Given the description of an element on the screen output the (x, y) to click on. 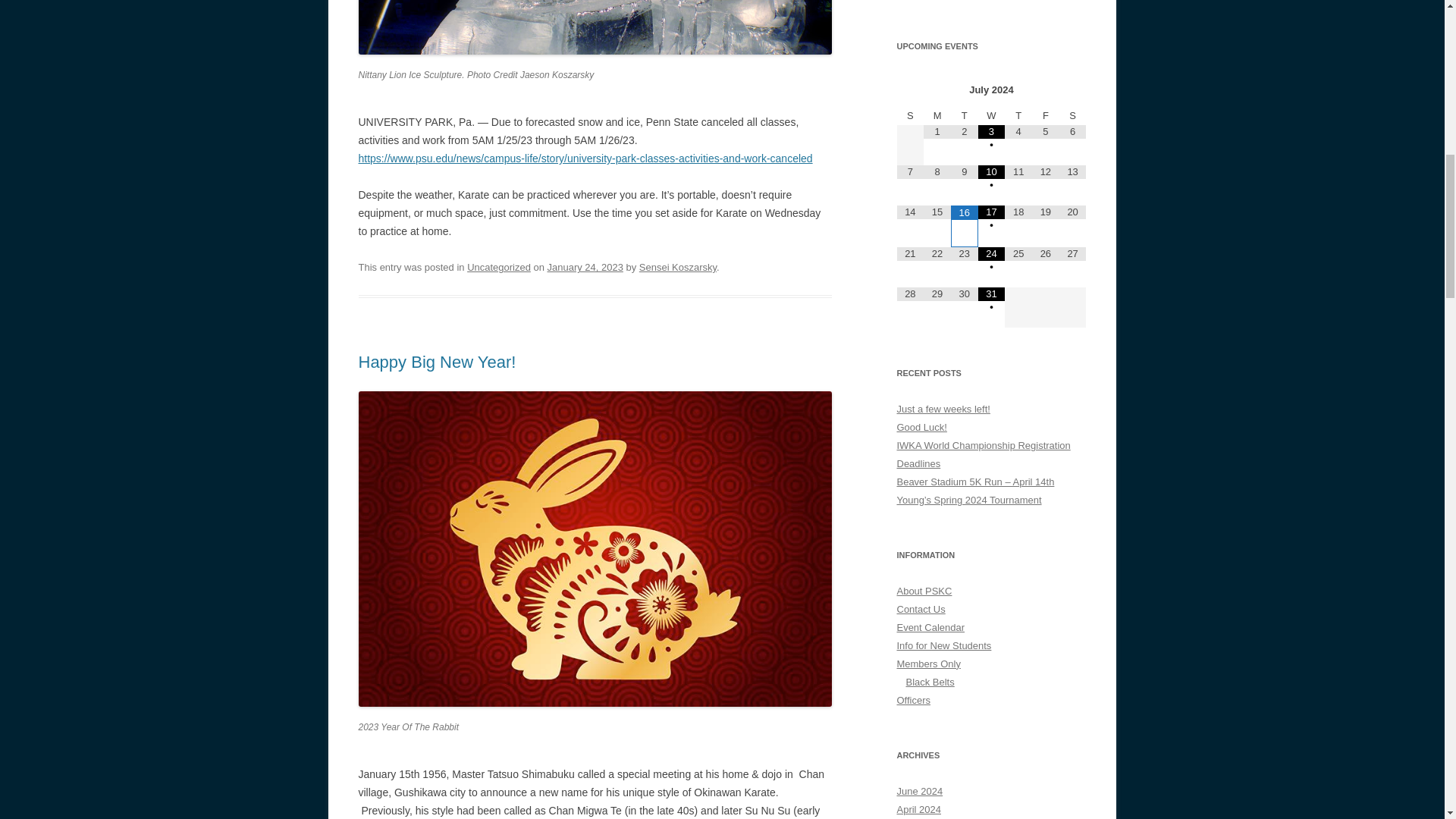
January 24, 2023 (585, 266)
View all posts by Sensei Koszarsky (677, 266)
Next Month (1072, 90)
Sensei Koszarsky (677, 266)
Uncategorized (499, 266)
10:50 pm (585, 266)
Happy Big New Year! (436, 361)
Previous Month (909, 90)
